Given the description of an element on the screen output the (x, y) to click on. 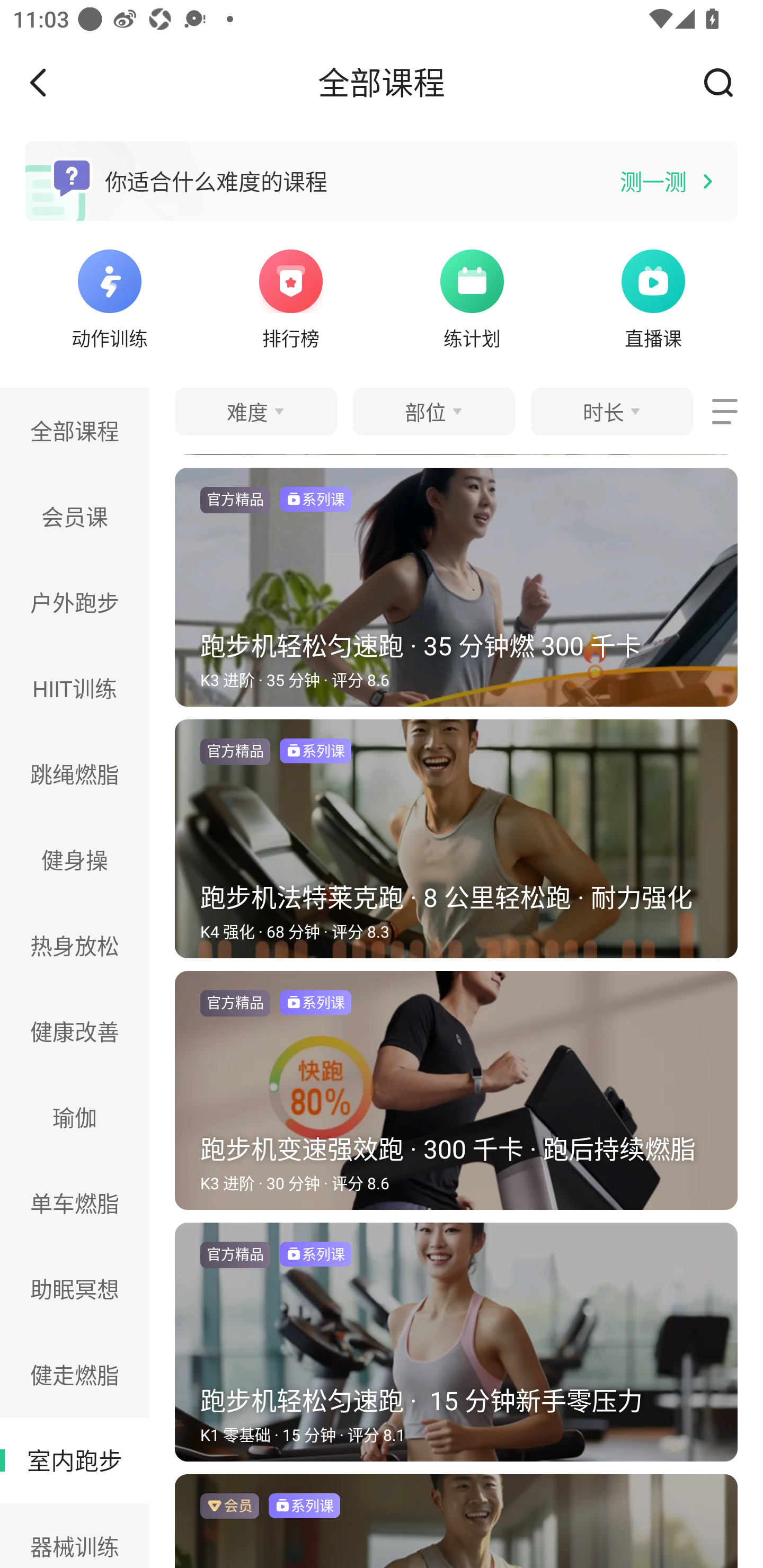
Left Button In Title Bar (50, 82)
Right Button In Title Bar (724, 82)
你适合什么难度的课程 测一测 (381, 181)
动作训练 (109, 297)
排行榜 (290, 297)
练计划 (471, 297)
直播课 (653, 297)
全部课程 (74, 430)
难度 (255, 411)
部位 (433, 411)
时长 (611, 411)
会员课 (74, 516)
户外跑步 (74, 601)
HIIT训练 (74, 687)
跳绳燃脂 (74, 773)
健身操 (74, 859)
热身放松 (74, 945)
健康改善 (74, 1030)
瑜伽 (74, 1117)
单车燃脂 (74, 1203)
助眠冥想 (74, 1288)
健走燃脂 (74, 1374)
室内跑步 (74, 1460)
器械训练 (74, 1535)
